Given the description of an element on the screen output the (x, y) to click on. 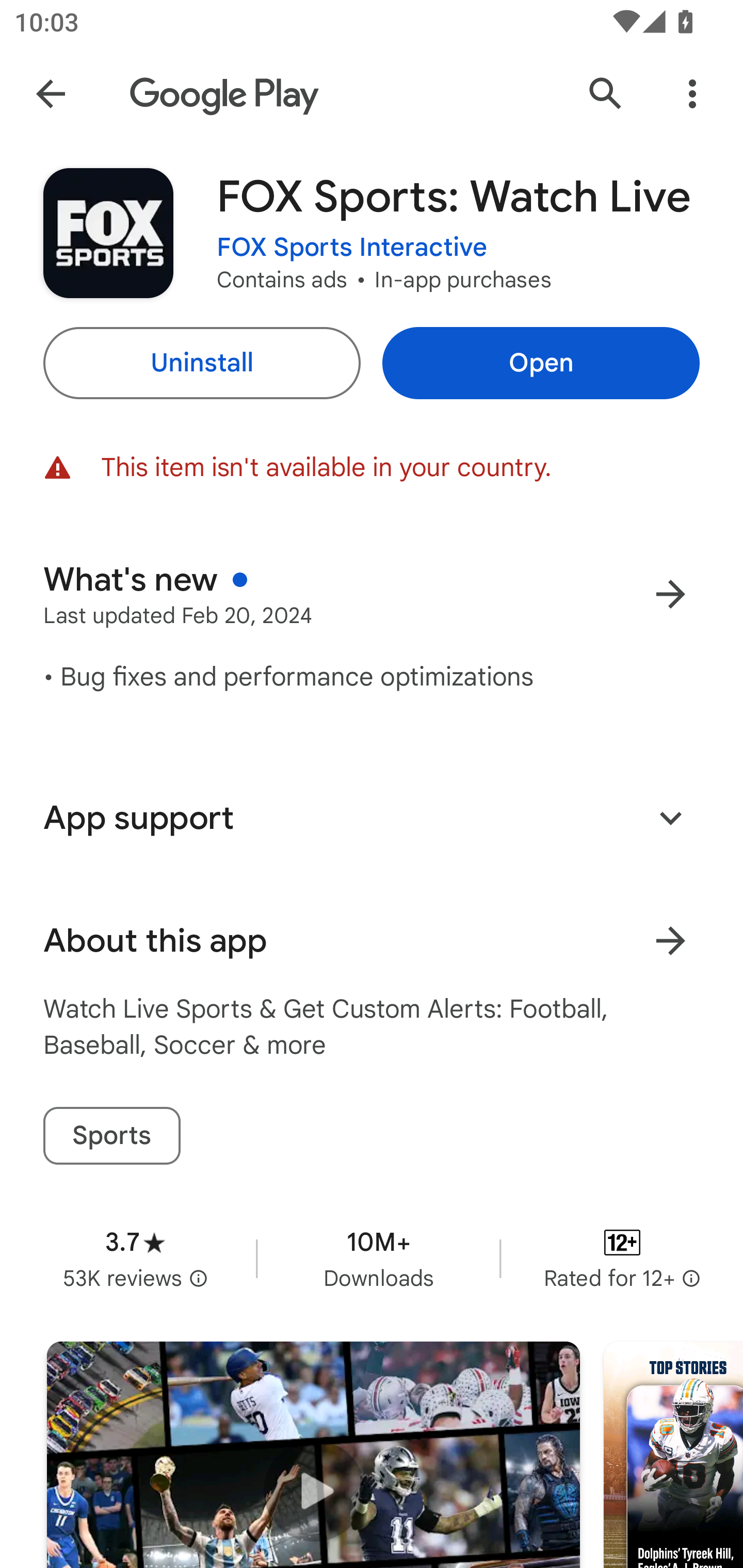
Navigate up (50, 93)
Search Google Play (605, 93)
More Options (692, 93)
FOX Sports Interactive (351, 247)
Uninstall (201, 362)
Open (540, 362)
More results for What's new (670, 594)
App support Expand (371, 817)
Expand (670, 817)
About this app Learn more About this app (371, 940)
Learn more About this app (670, 940)
Sports tag (111, 1135)
Average rating 3.7 stars in 53 thousand reviews (135, 1258)
Content rating Rated for 12+ (622, 1258)
Play trailer for "FOX Sports: Watch Live" (313, 1455)
